Given the description of an element on the screen output the (x, y) to click on. 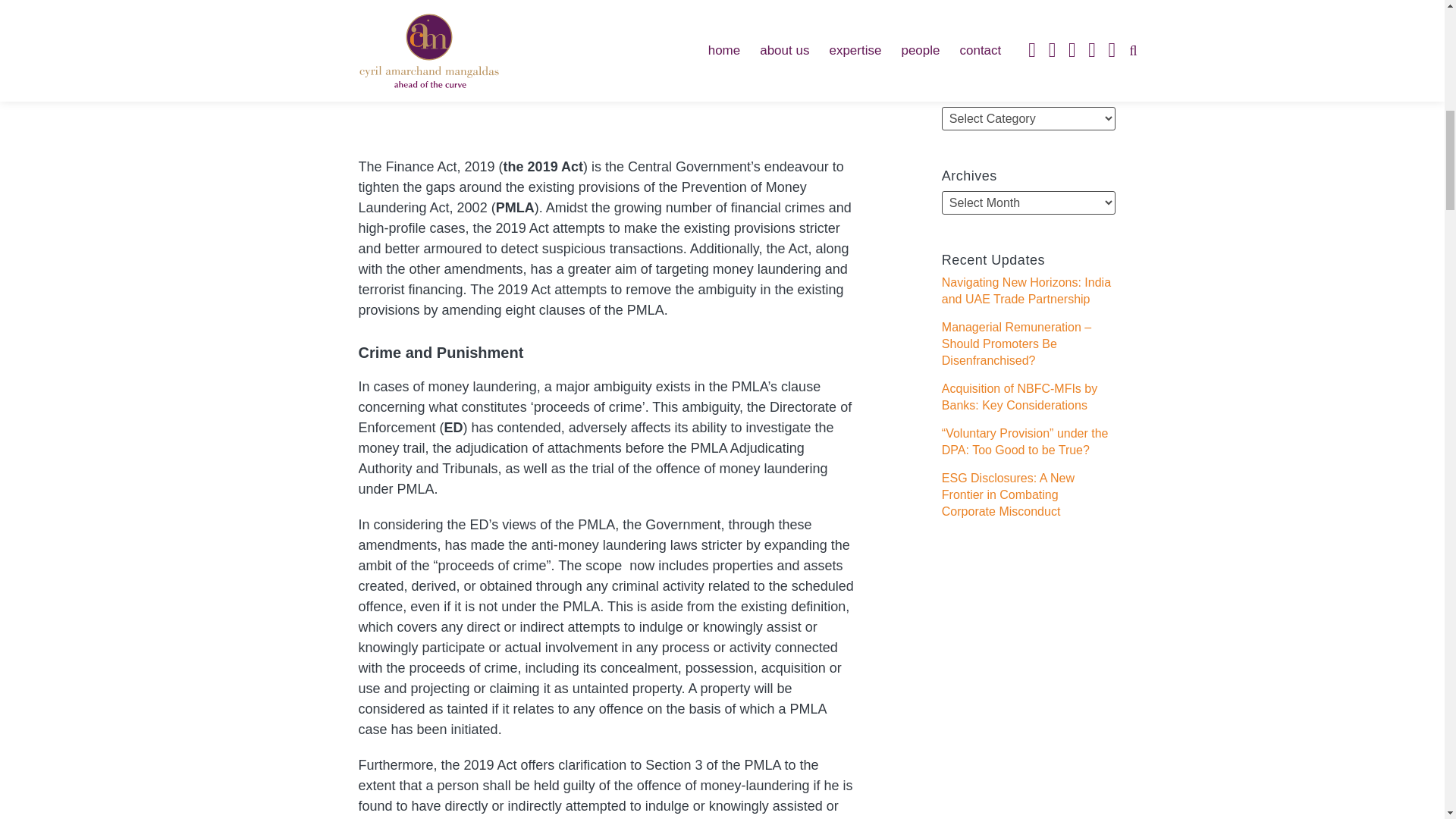
Subscribe (1028, 25)
